Given the description of an element on the screen output the (x, y) to click on. 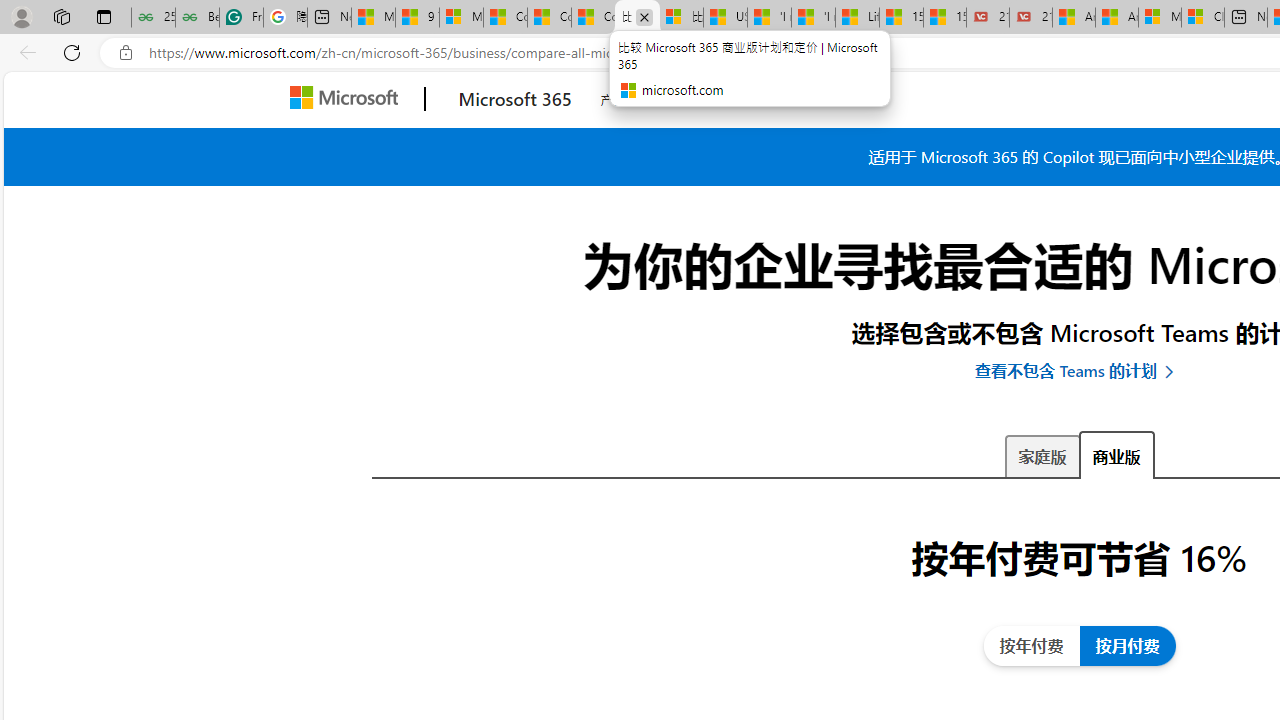
USA TODAY - MSN (725, 17)
21 Movies That Outdid the Books They Were Based On (1030, 17)
15 Ways Modern Life Contradicts the Teachings of Jesus (945, 17)
Lifestyle - MSN (857, 17)
